Given the description of an element on the screen output the (x, y) to click on. 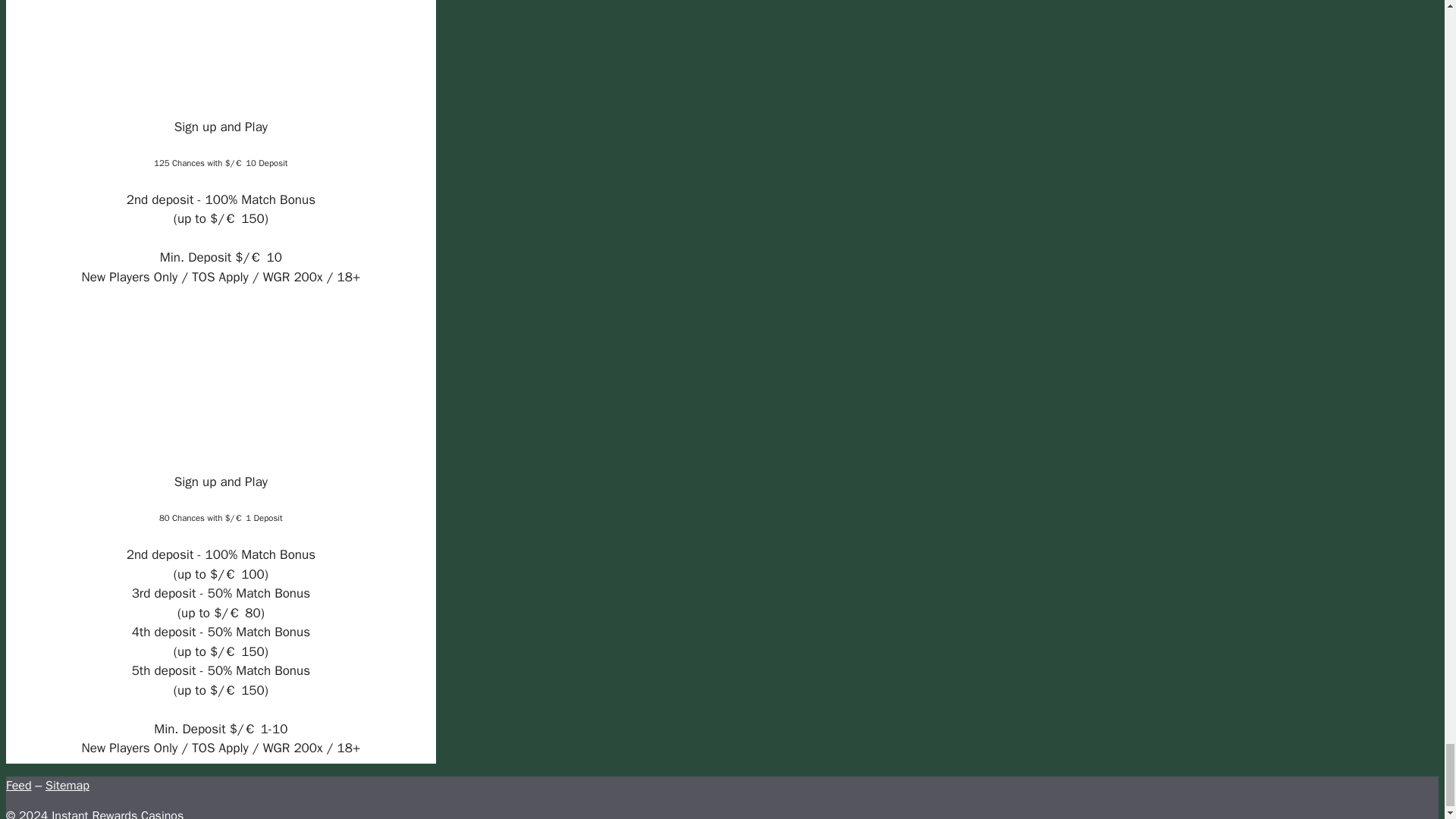
Feed (18, 785)
